Given the description of an element on the screen output the (x, y) to click on. 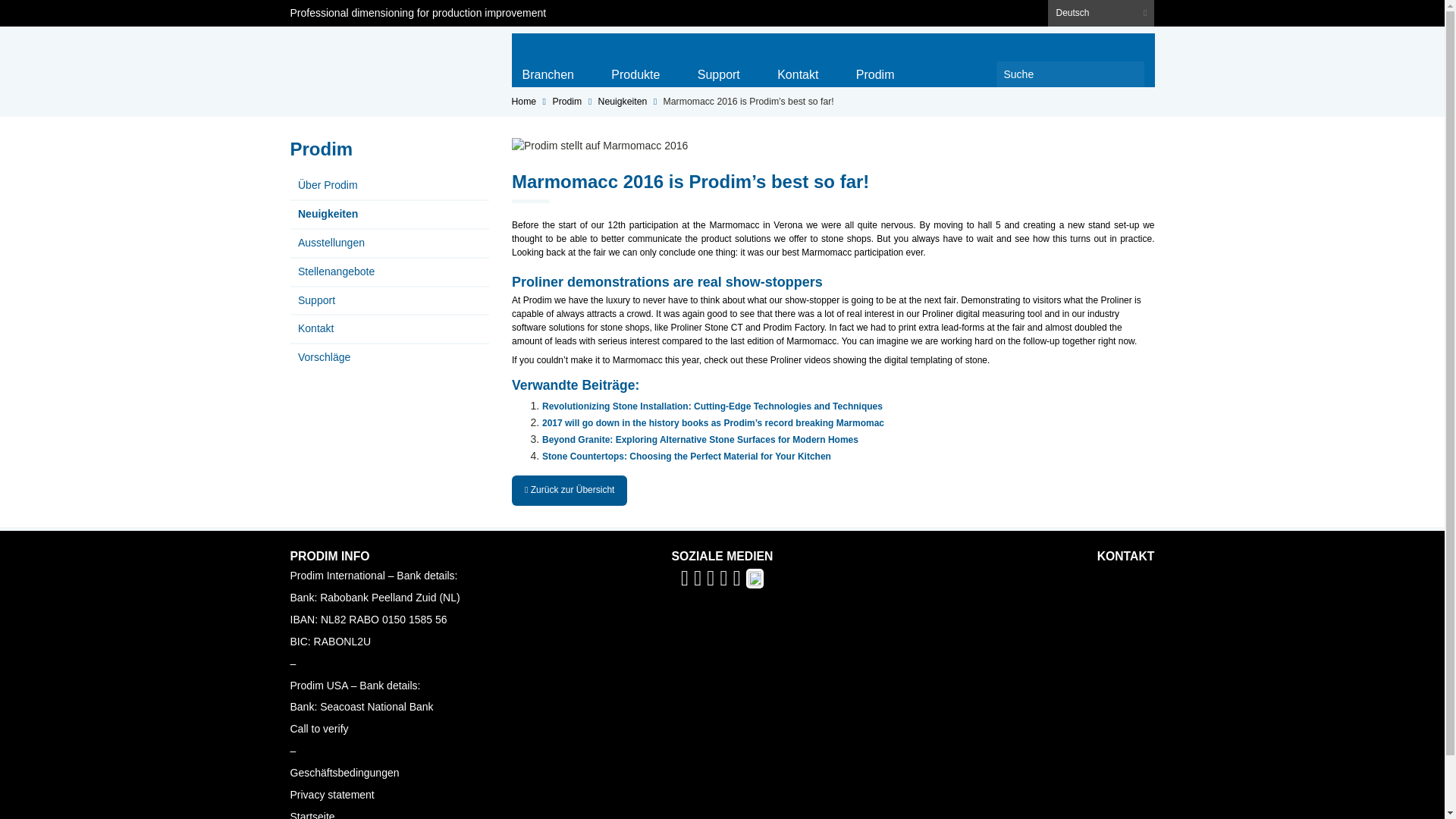
Prodim (357, 59)
Produkte (635, 71)
Branchen (547, 71)
